Given the description of an element on the screen output the (x, y) to click on. 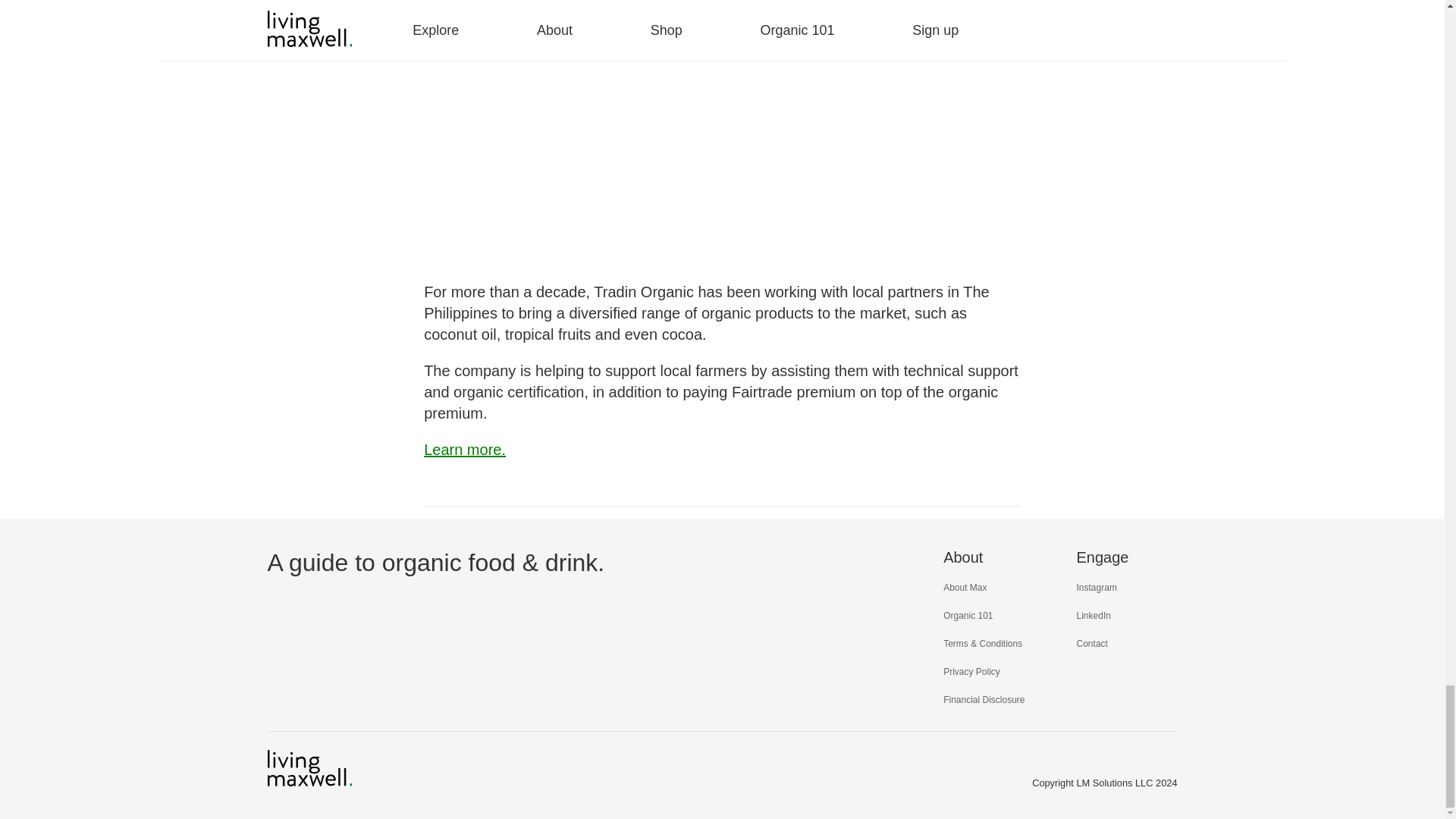
Organic 101 (967, 615)
About Max (965, 587)
Privacy Policy (971, 671)
Learn more. (464, 449)
